Given the description of an element on the screen output the (x, y) to click on. 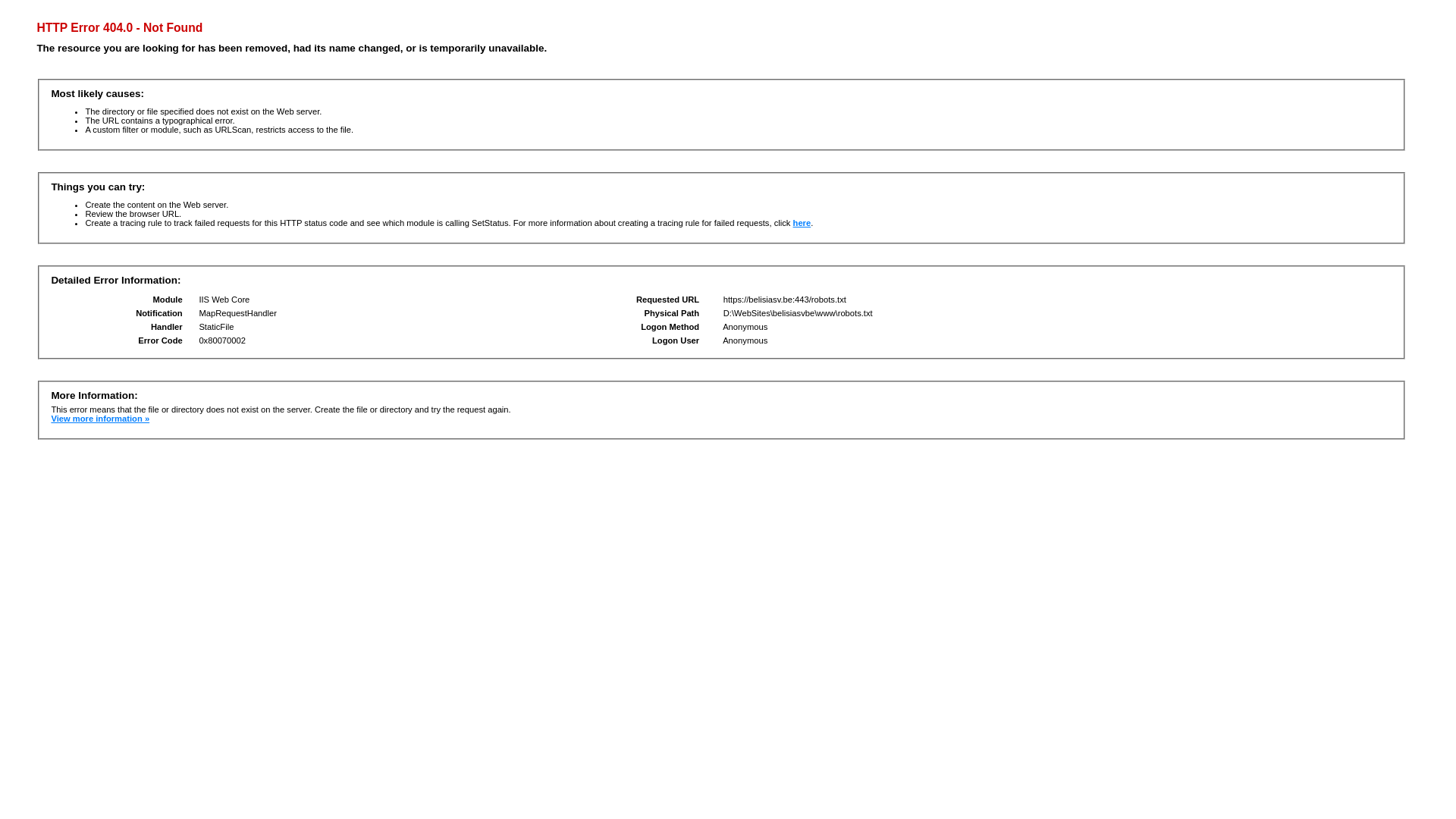
here Element type: text (802, 222)
